Given the description of an element on the screen output the (x, y) to click on. 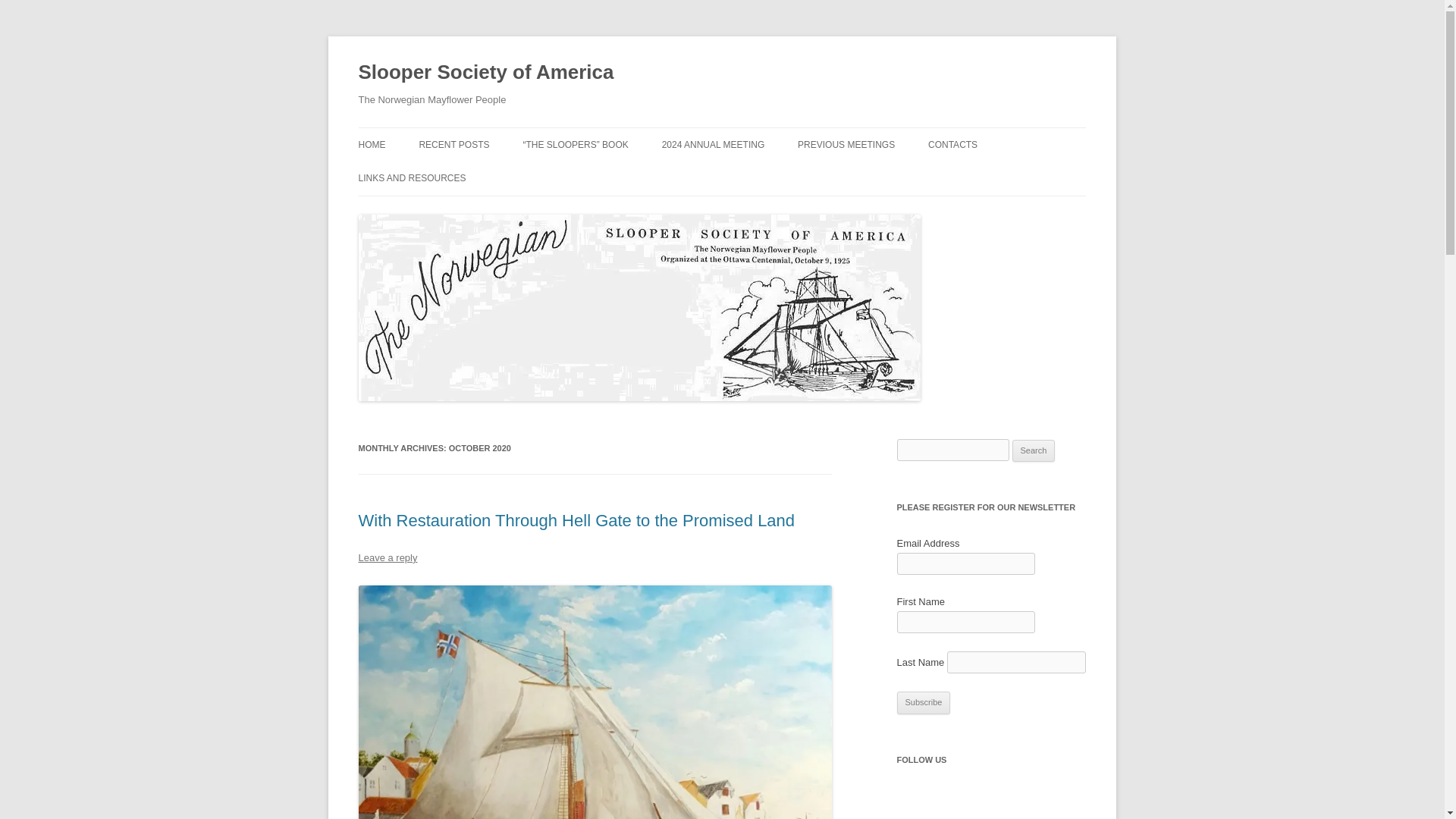
Slooper Society of America (485, 72)
Search (1033, 450)
Subscribe (923, 702)
Facebook (914, 803)
With Restauration Through Hell Gate to the Promised Land (576, 520)
RECENT POSTS (454, 144)
PREVIOUS MEETINGS (846, 144)
LINKS AND RESOURCES (411, 177)
Search (1033, 450)
CONTACTS (952, 144)
Leave a reply (387, 557)
Subscribe (923, 702)
2024 ANNUAL MEETING (713, 144)
